Given the description of an element on the screen output the (x, y) to click on. 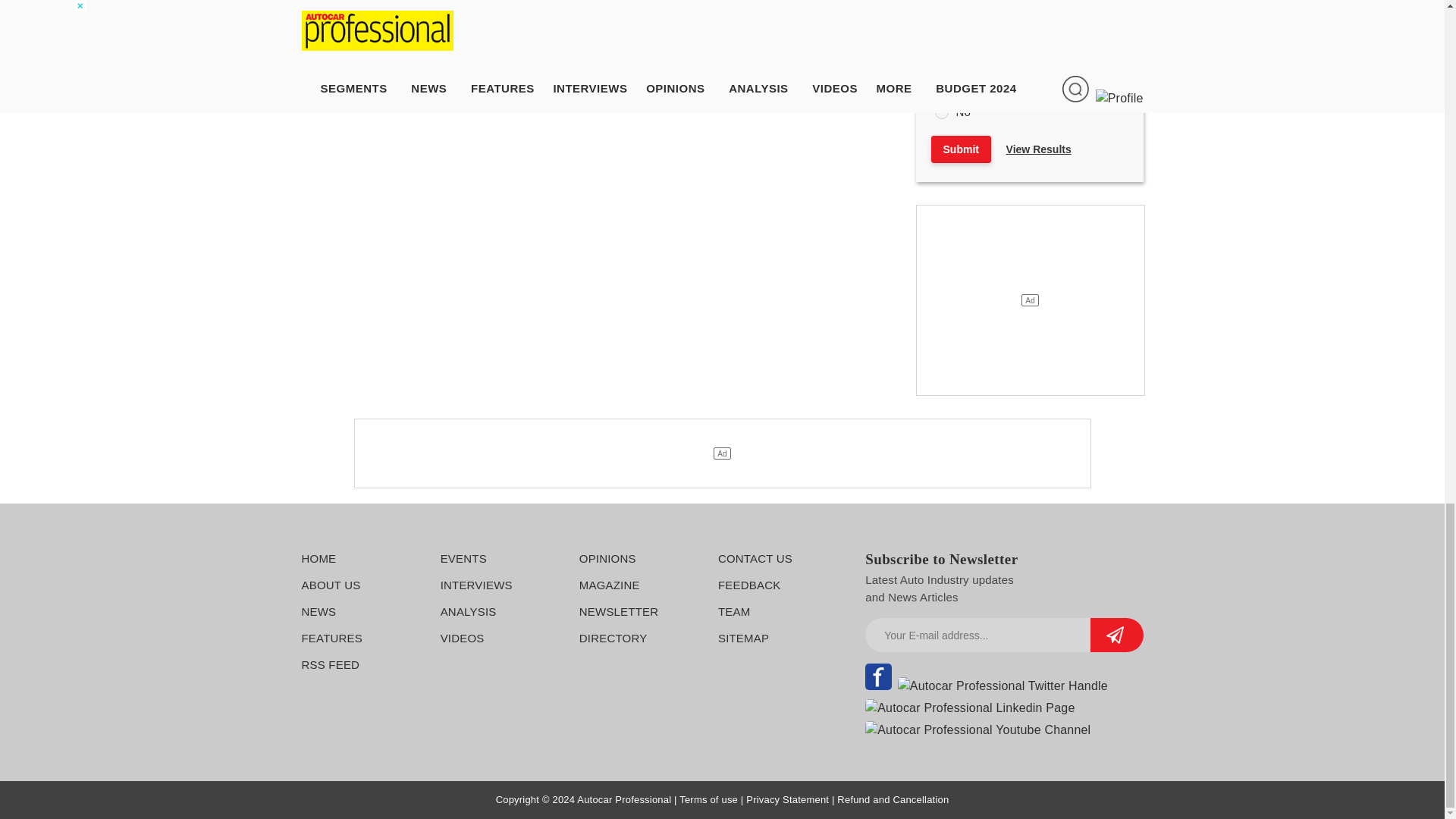
294 (940, 111)
293 (940, 87)
